Given the description of an element on the screen output the (x, y) to click on. 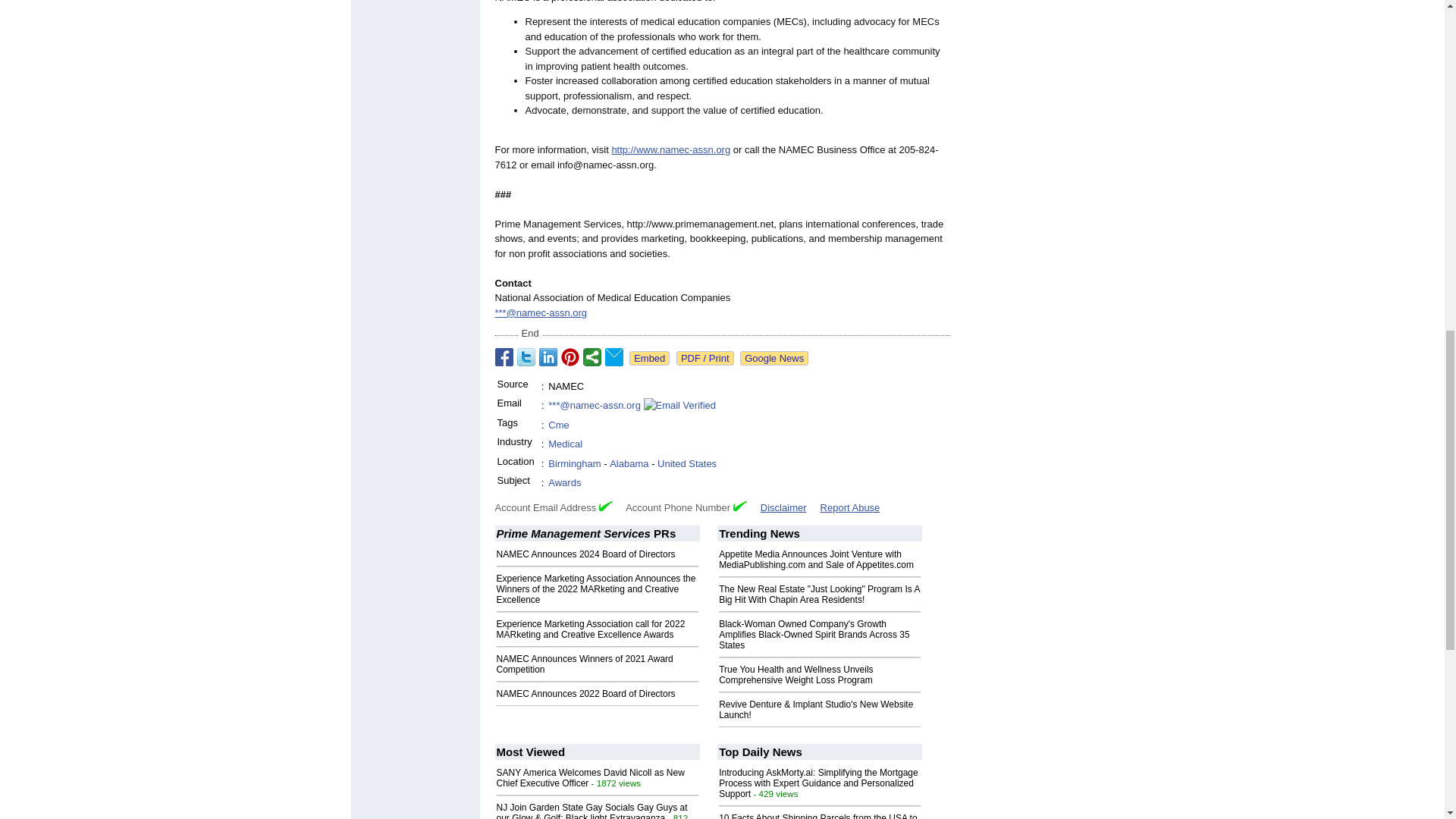
Email to a Friend (614, 357)
Email Verified (678, 405)
Embed this press release in your website! (648, 358)
Share on Facebook (503, 357)
Share on StumbleUpon, Digg, etc (590, 357)
Share on Pinterest (569, 357)
Verified (605, 506)
Embed (648, 358)
Verified (739, 506)
See or print the PDF version! (705, 358)
Share on Twitter (525, 357)
Share on LinkedIn (547, 357)
